Given the description of an element on the screen output the (x, y) to click on. 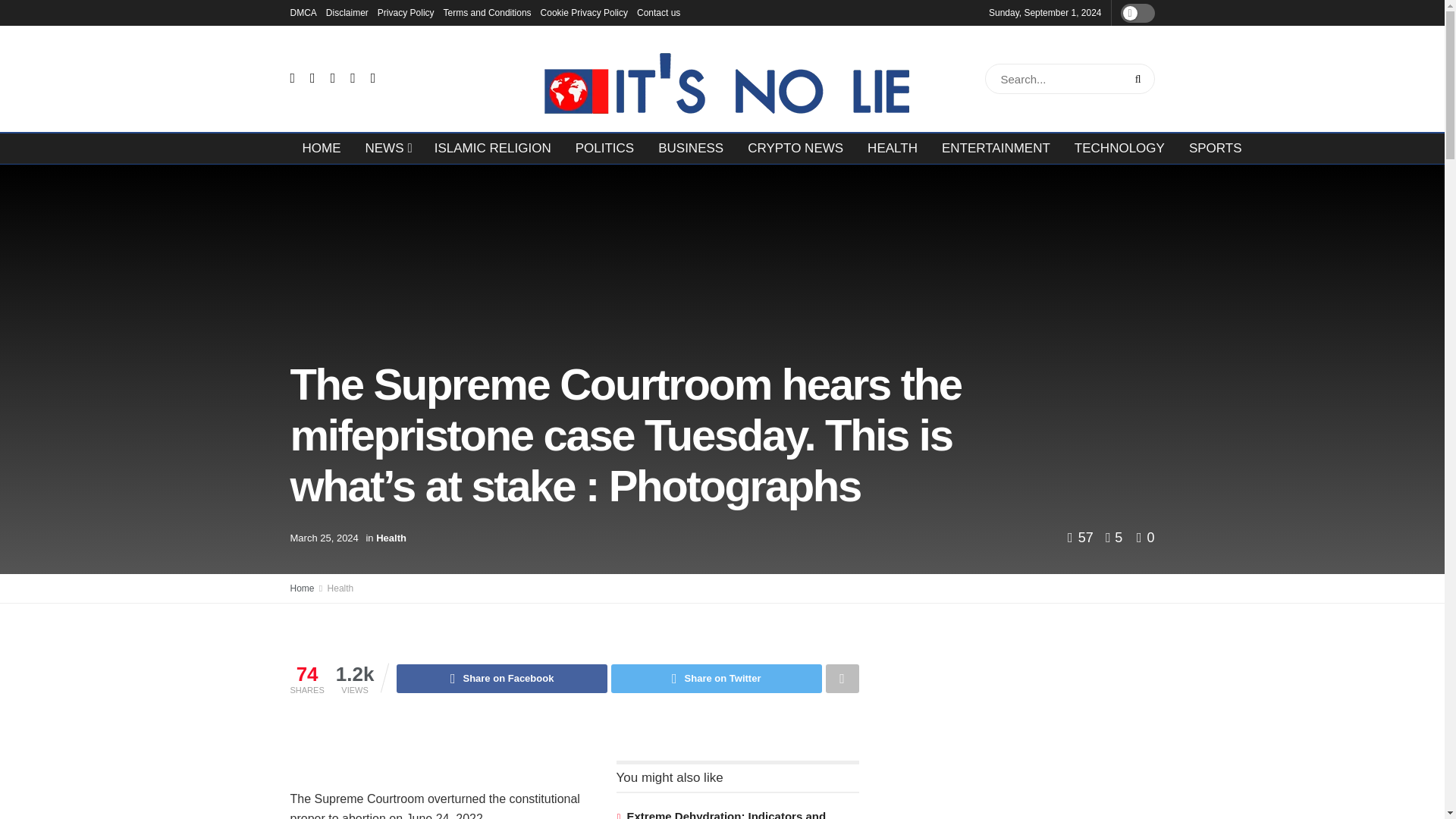
Disclaimer (347, 12)
Cookie Privacy Policy (583, 12)
NEWS (387, 148)
ENTERTAINMENT (996, 148)
SPORTS (1214, 148)
POLITICS (604, 148)
Terms and Conditions (487, 12)
Privacy Policy (405, 12)
DMCA (302, 12)
ISLAMIC RELIGION (492, 148)
